Given the description of an element on the screen output the (x, y) to click on. 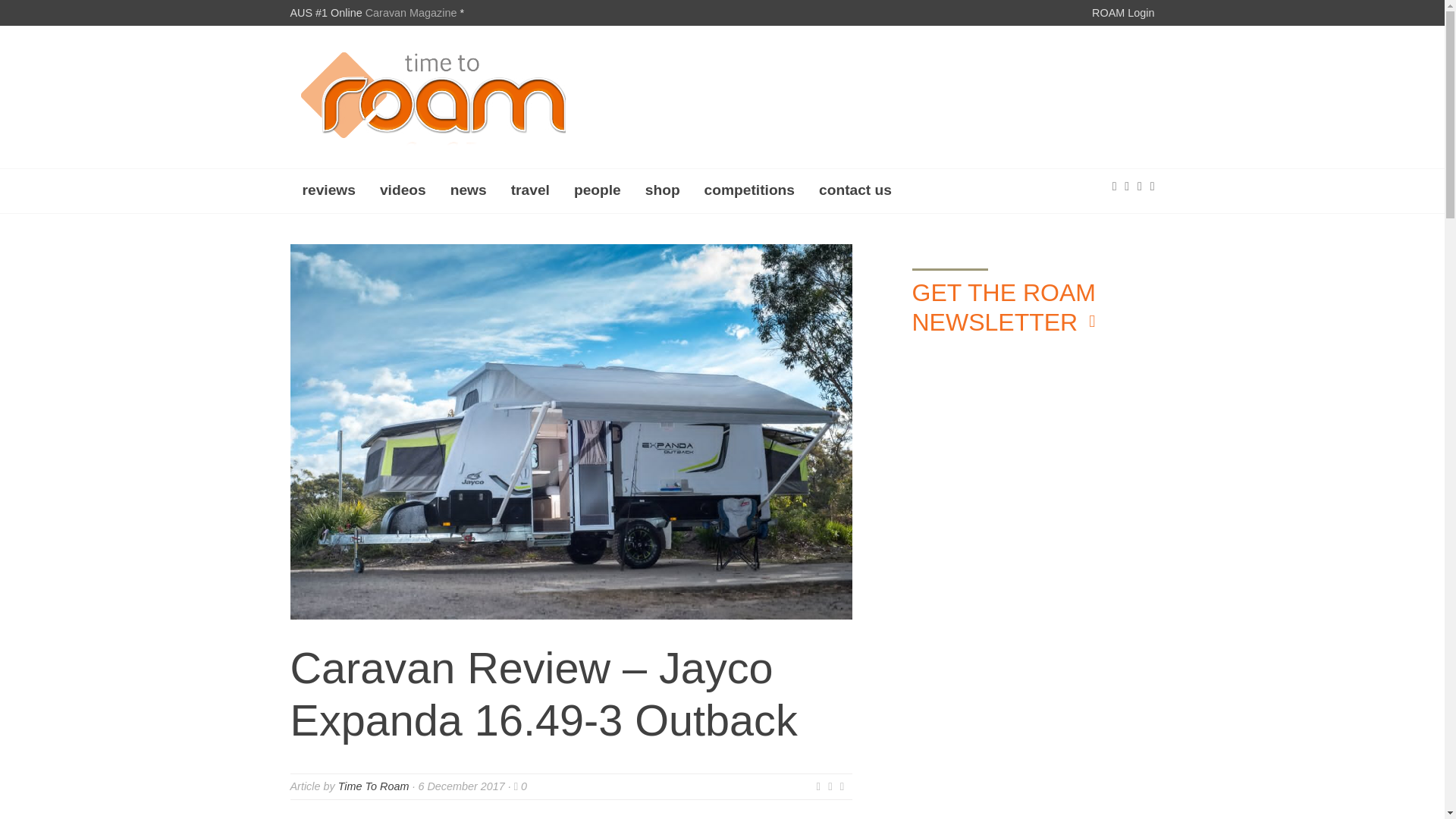
ROAM Login (1123, 12)
Time To Roam (373, 786)
news (468, 188)
travel (530, 188)
people (597, 188)
shop (663, 188)
reviews (327, 188)
0 (520, 786)
Caravan Magazine (411, 12)
Posts by Time To Roam (373, 786)
